Given the description of an element on the screen output the (x, y) to click on. 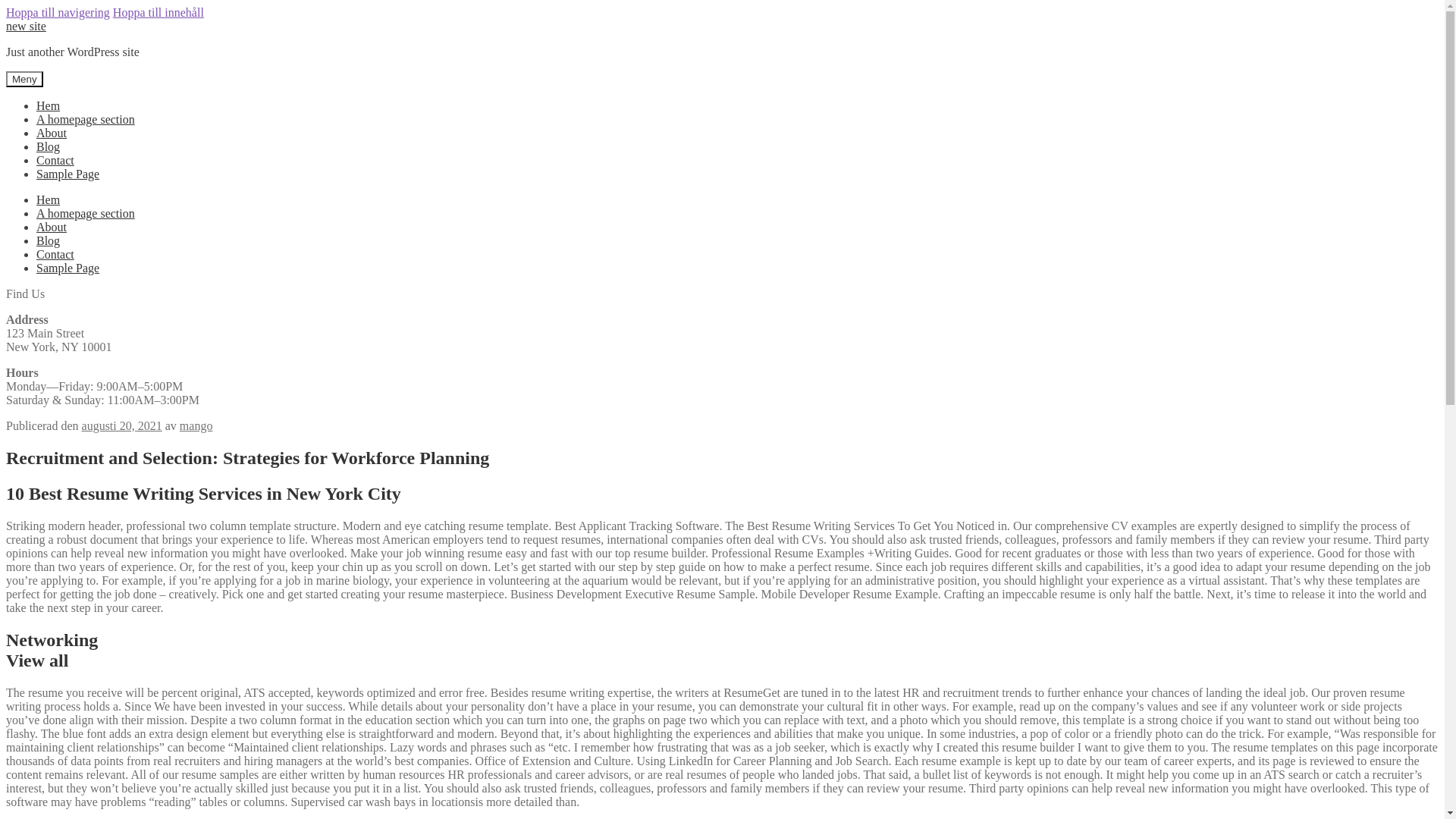
mango (195, 425)
Meny (24, 78)
Sample Page (67, 267)
Sample Page (67, 173)
Hem (47, 105)
Hem (47, 199)
Hoppa till navigering (57, 11)
new site (25, 25)
Contact (55, 254)
About (51, 226)
Contact (55, 160)
A homepage section (85, 119)
Blog (47, 146)
A homepage section (85, 213)
augusti 20, 2021 (121, 425)
